Given the description of an element on the screen output the (x, y) to click on. 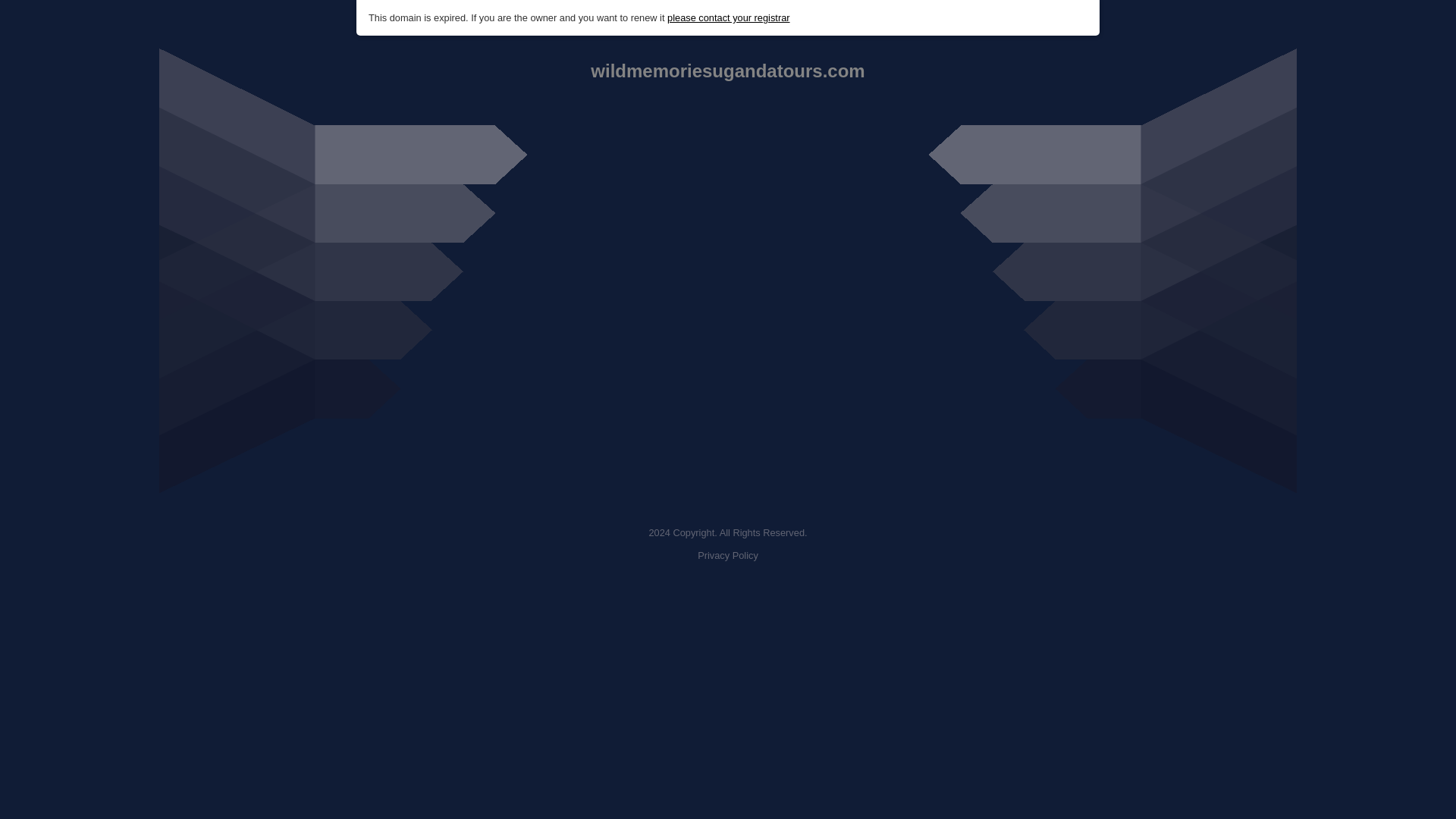
please contact your registrar (727, 17)
Privacy Policy (727, 555)
